Given the description of an element on the screen output the (x, y) to click on. 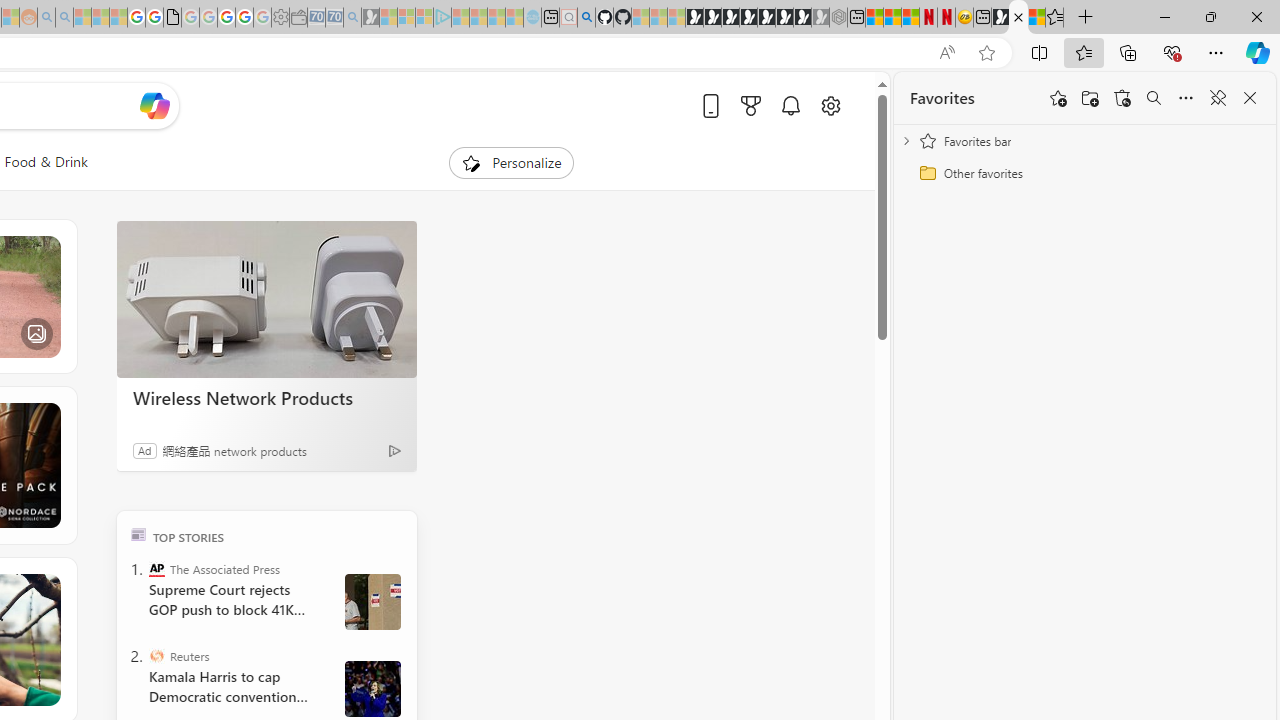
Wireless Network Products (266, 397)
